Given the description of an element on the screen output the (x, y) to click on. 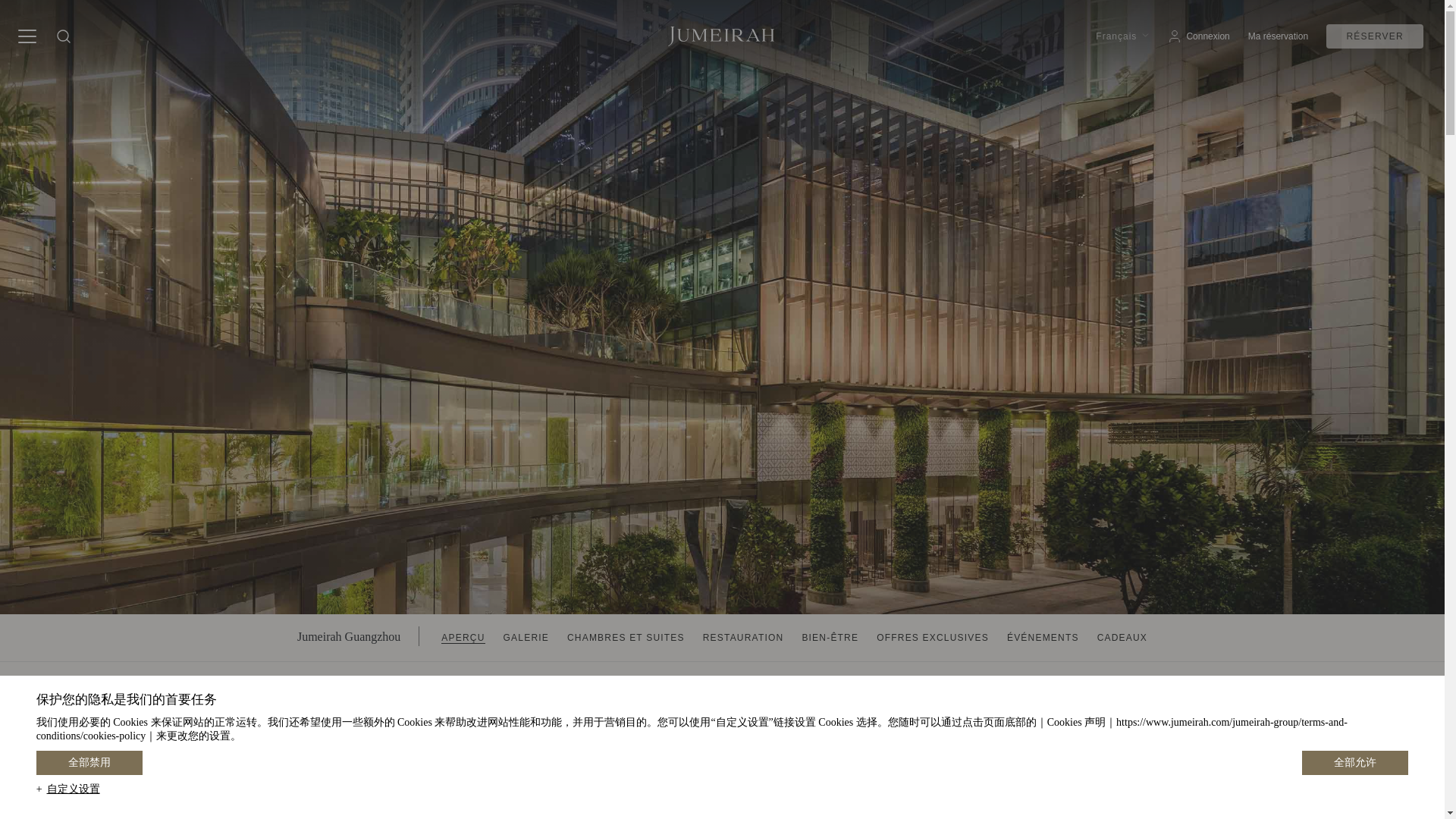
RESTAURATION (743, 637)
OFFRES EXCLUSIVES (932, 637)
GALERIE (525, 637)
CADEAUX (1122, 637)
CHAMBRES ET SUITES (625, 637)
